Given the description of an element on the screen output the (x, y) to click on. 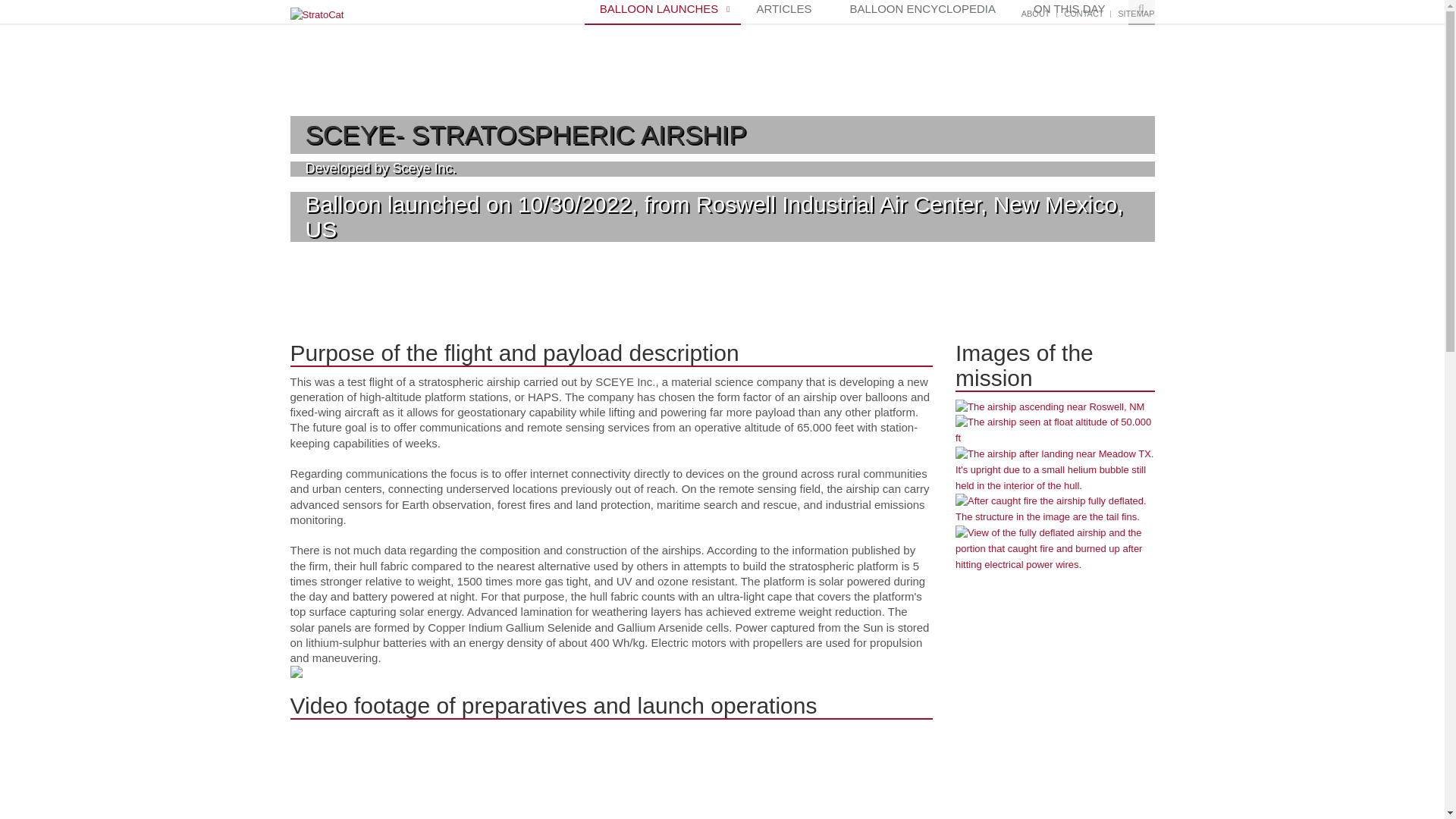
ABOUT (1035, 13)
CONTACT (1083, 13)
The airship seen at float altitude of 50.000 ft (1054, 430)
BALLOON ENCYCLOPEDIA (925, 12)
BALLOON LAUNCHES (663, 12)
ARTICLES (787, 12)
The airship ascending near Roswell, NM (1054, 407)
SITEMAP (1136, 13)
ON THIS DAY (1071, 12)
